Given the description of an element on the screen output the (x, y) to click on. 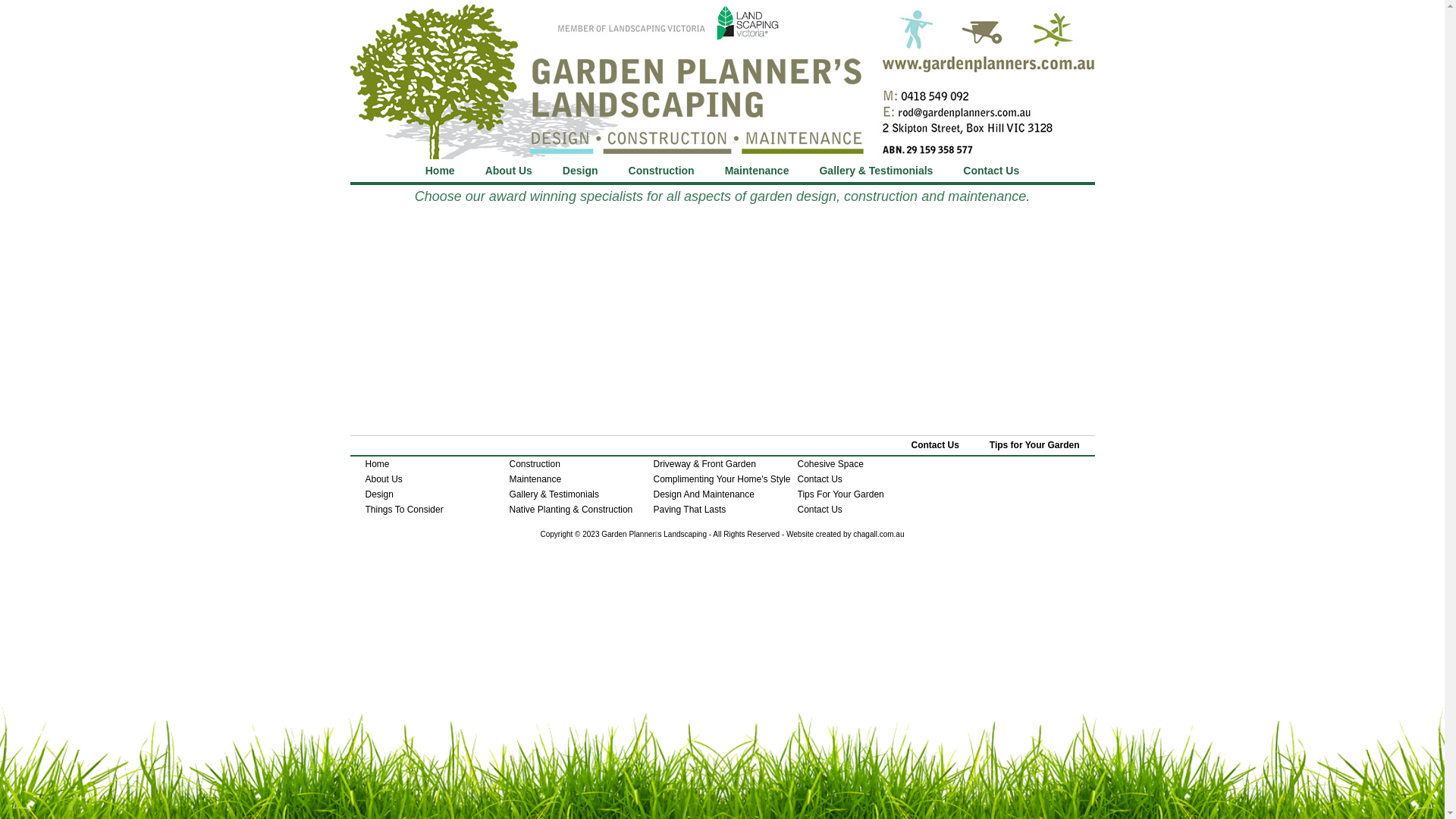
Design Element type: text (379, 494)
Gallery & Testimonials Element type: text (875, 170)
Cohesive Space Element type: text (830, 463)
Contact Us Element type: text (819, 478)
About Us Element type: text (508, 170)
chagall.com.au Element type: text (878, 534)
Tips For Your Garden Element type: text (840, 494)
Maintenance Element type: text (756, 170)
Driveway & Front Garden Element type: text (704, 463)
Design Element type: text (580, 170)
Home Element type: text (440, 170)
Design And Maintenance Element type: text (703, 494)
Maintenance Element type: text (535, 478)
Tips for Your Garden Element type: text (1034, 445)
About Us Element type: text (383, 478)
Home Element type: text (377, 463)
Complimenting Your Home's Style Element type: text (721, 478)
Gallery & Testimonials Element type: text (554, 494)
Paving That Lasts Element type: text (689, 509)
Contact Us Element type: text (990, 170)
Construction Element type: text (661, 170)
Native Planting & Construction Element type: text (571, 509)
Things To Consider Element type: text (404, 509)
Contact Us Element type: text (934, 445)
Contact Us Element type: text (819, 509)
Construction Element type: text (534, 463)
